Given the description of an element on the screen output the (x, y) to click on. 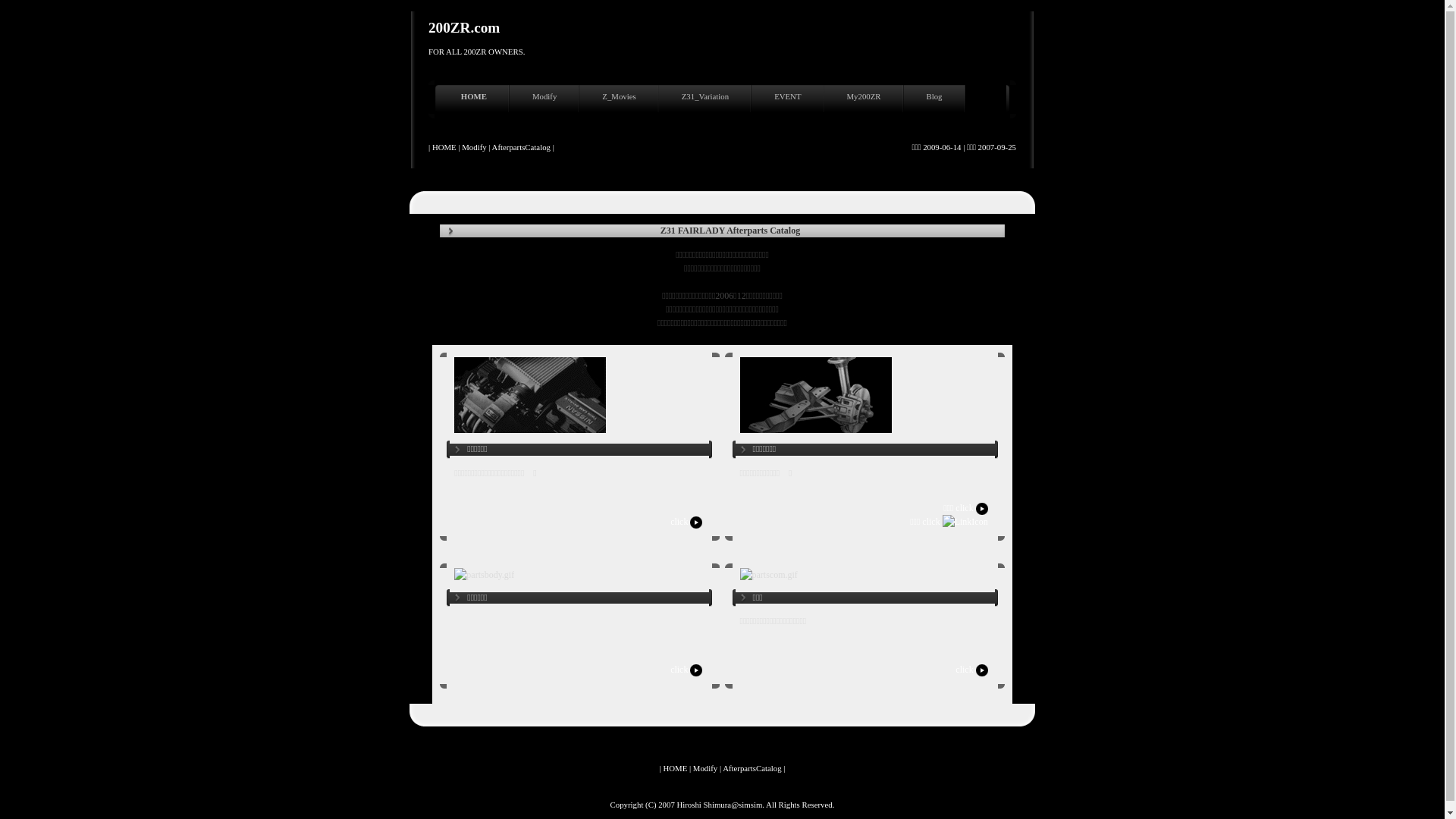
My200ZR Element type: text (865, 98)
click Element type: text (687, 669)
Z31_Variation Element type: text (706, 98)
Blog Element type: text (936, 98)
HOME Element type: text (444, 146)
click Element type: text (972, 669)
Z_Movies Element type: text (620, 98)
Modify Element type: text (473, 146)
HOME Element type: text (674, 766)
HOME Element type: text (475, 98)
Modify Element type: text (705, 766)
click Element type: text (687, 521)
Modify Element type: text (546, 98)
EVENT Element type: text (789, 98)
